Given the description of an element on the screen output the (x, y) to click on. 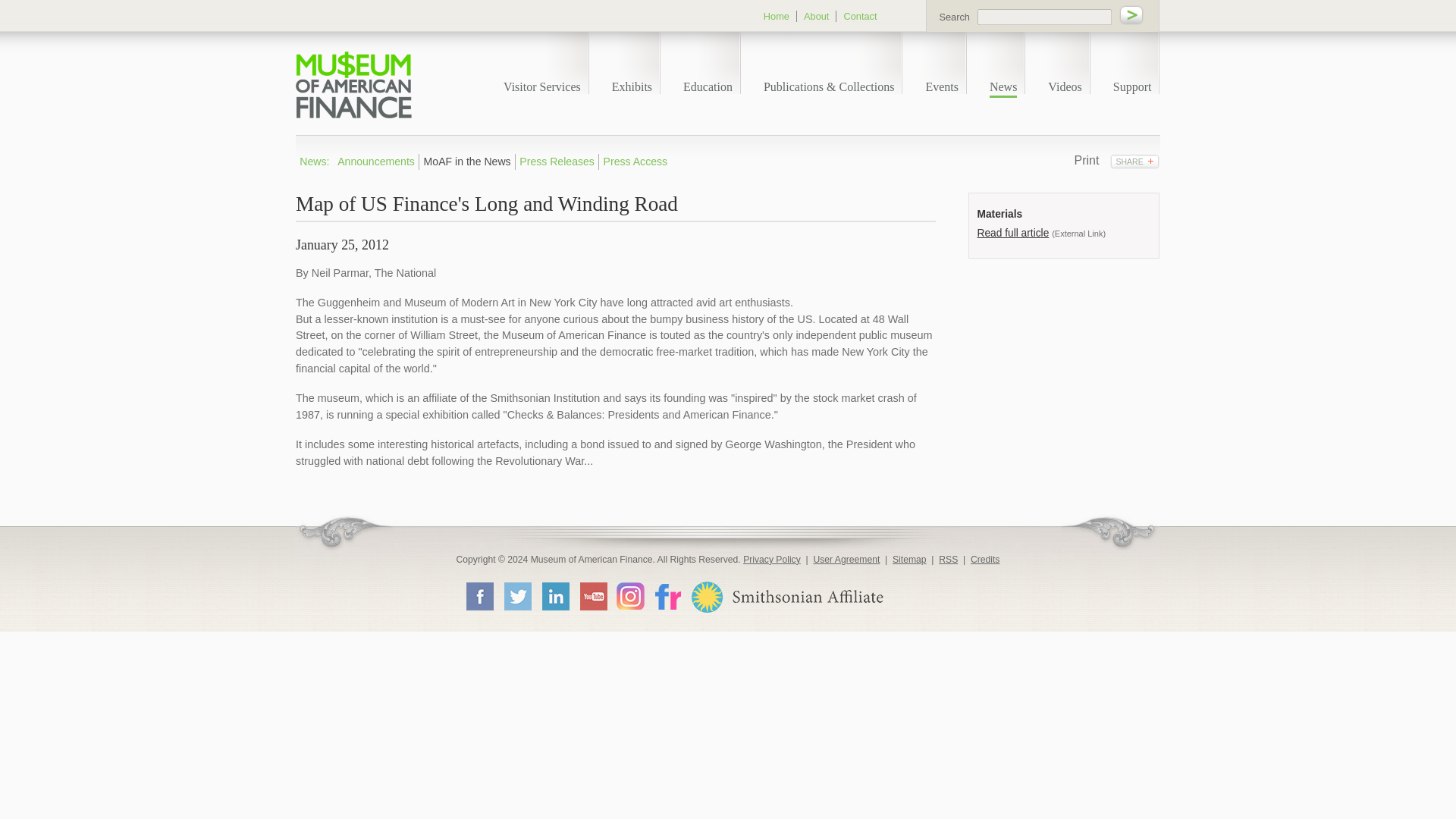
Museum of American Finance (353, 84)
print (1086, 160)
Social Media (1133, 160)
query (1044, 17)
